Given the description of an element on the screen output the (x, y) to click on. 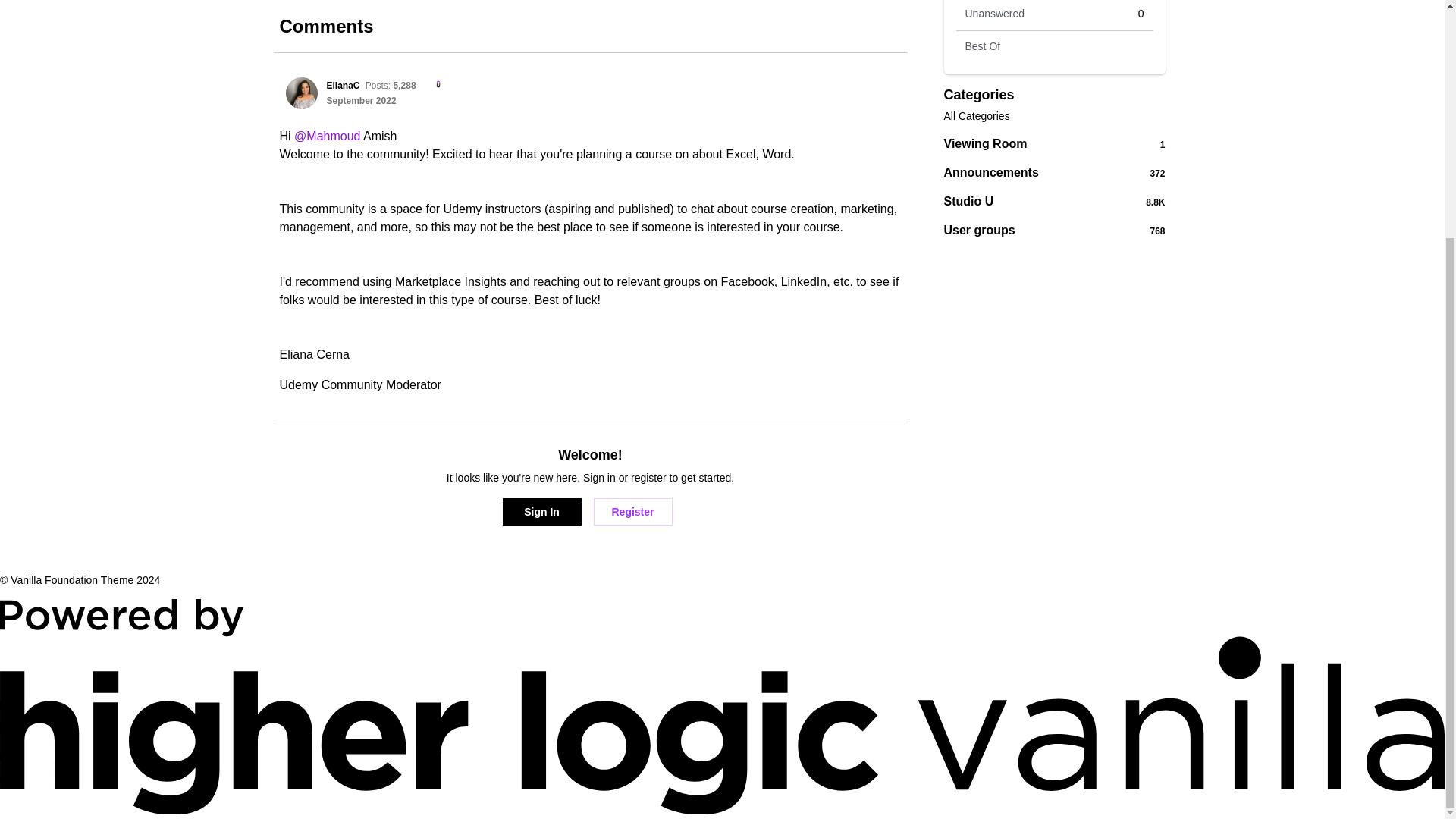
Best Of (1053, 172)
September 2022 (1054, 47)
Register (361, 100)
Sign In (631, 511)
Sign In (541, 511)
ElianaC (541, 511)
September 23, 2022 1:41PM (301, 92)
8,804 discussions (361, 100)
All Categories (1154, 202)
